Given the description of an element on the screen output the (x, y) to click on. 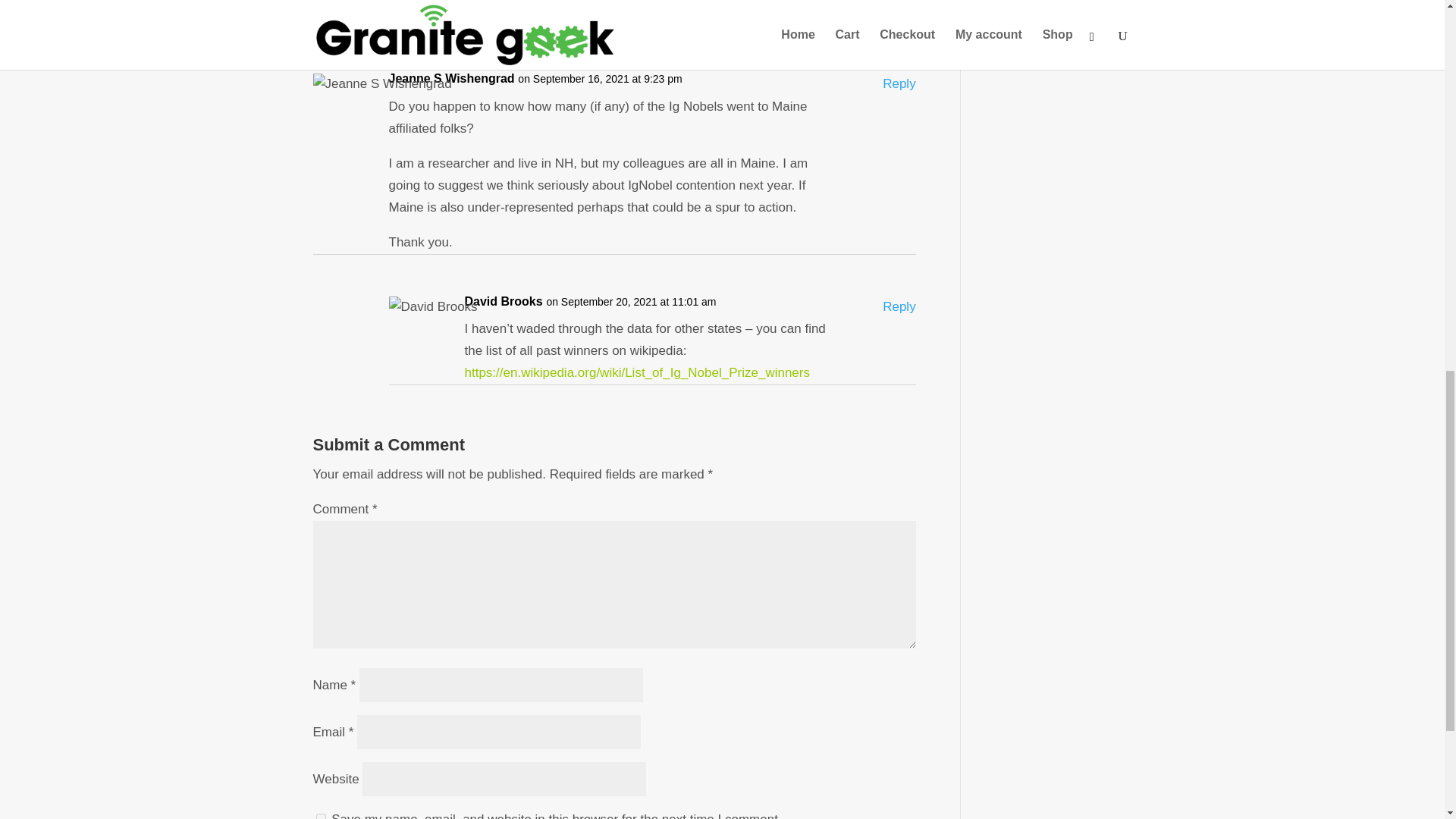
Reply (898, 84)
David Brooks (502, 301)
yes (319, 816)
Jeanne S Wishengrad (450, 78)
Reply (898, 307)
